Given the description of an element on the screen output the (x, y) to click on. 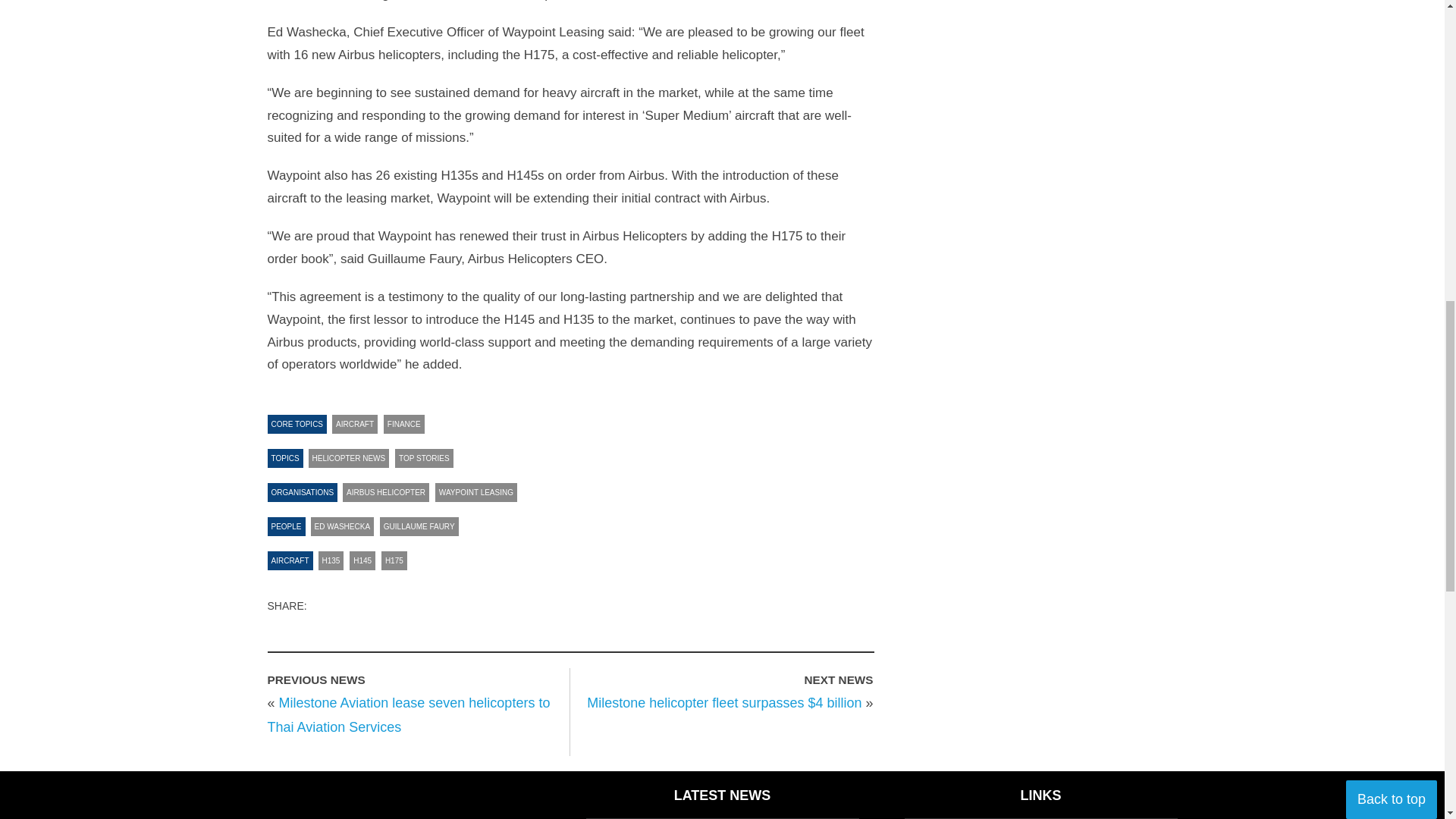
FINANCE (404, 424)
TOP STORIES (423, 457)
HELICOPTER NEWS (349, 457)
AIRCRAFT (354, 424)
